Given the description of an element on the screen output the (x, y) to click on. 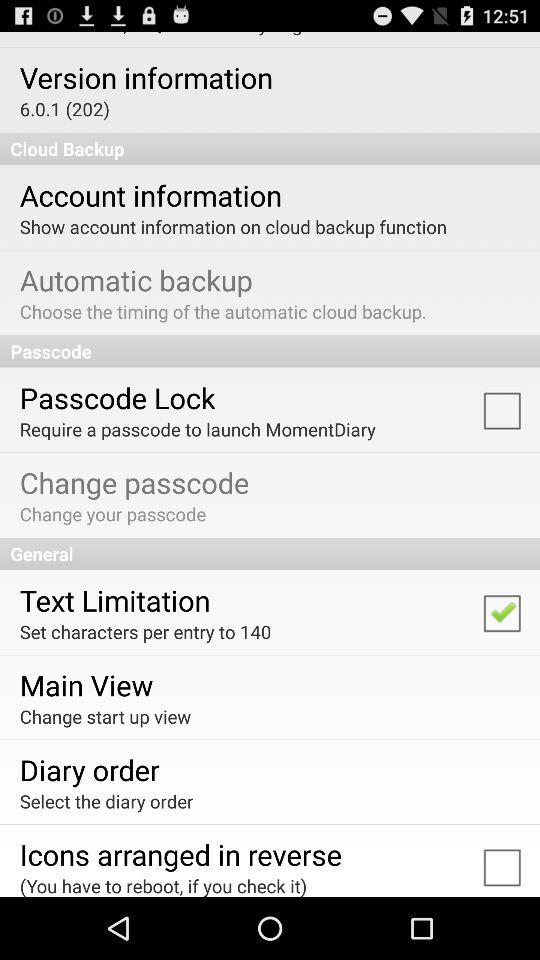
choose 6 0 1 (64, 108)
